Given the description of an element on the screen output the (x, y) to click on. 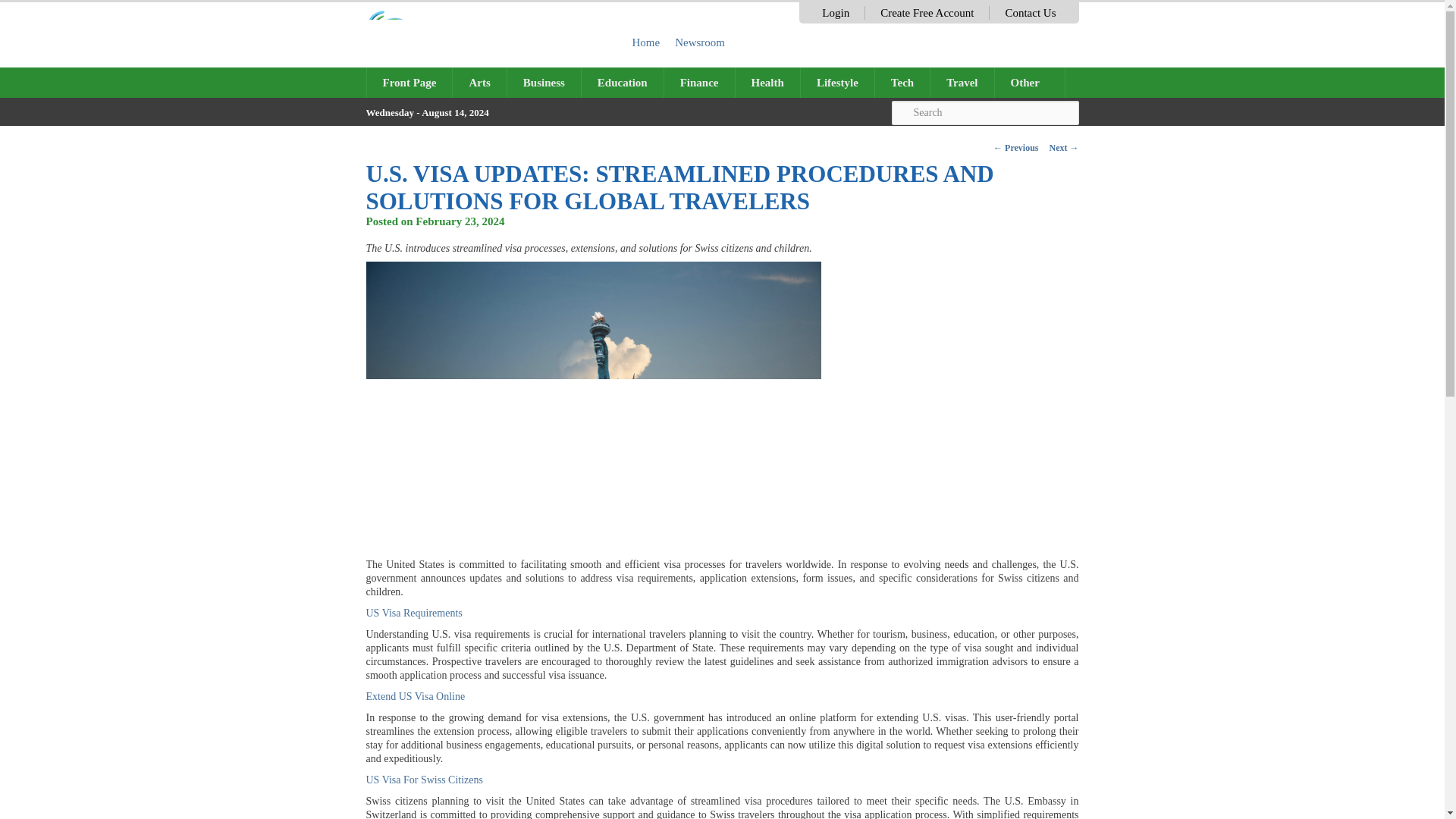
Other (1029, 82)
Search (984, 112)
Travel (961, 82)
Education (622, 82)
Finance (698, 82)
Create Free Account (926, 12)
Business (544, 82)
Tech (901, 82)
Front Page (409, 82)
Health (767, 82)
